Given the description of an element on the screen output the (x, y) to click on. 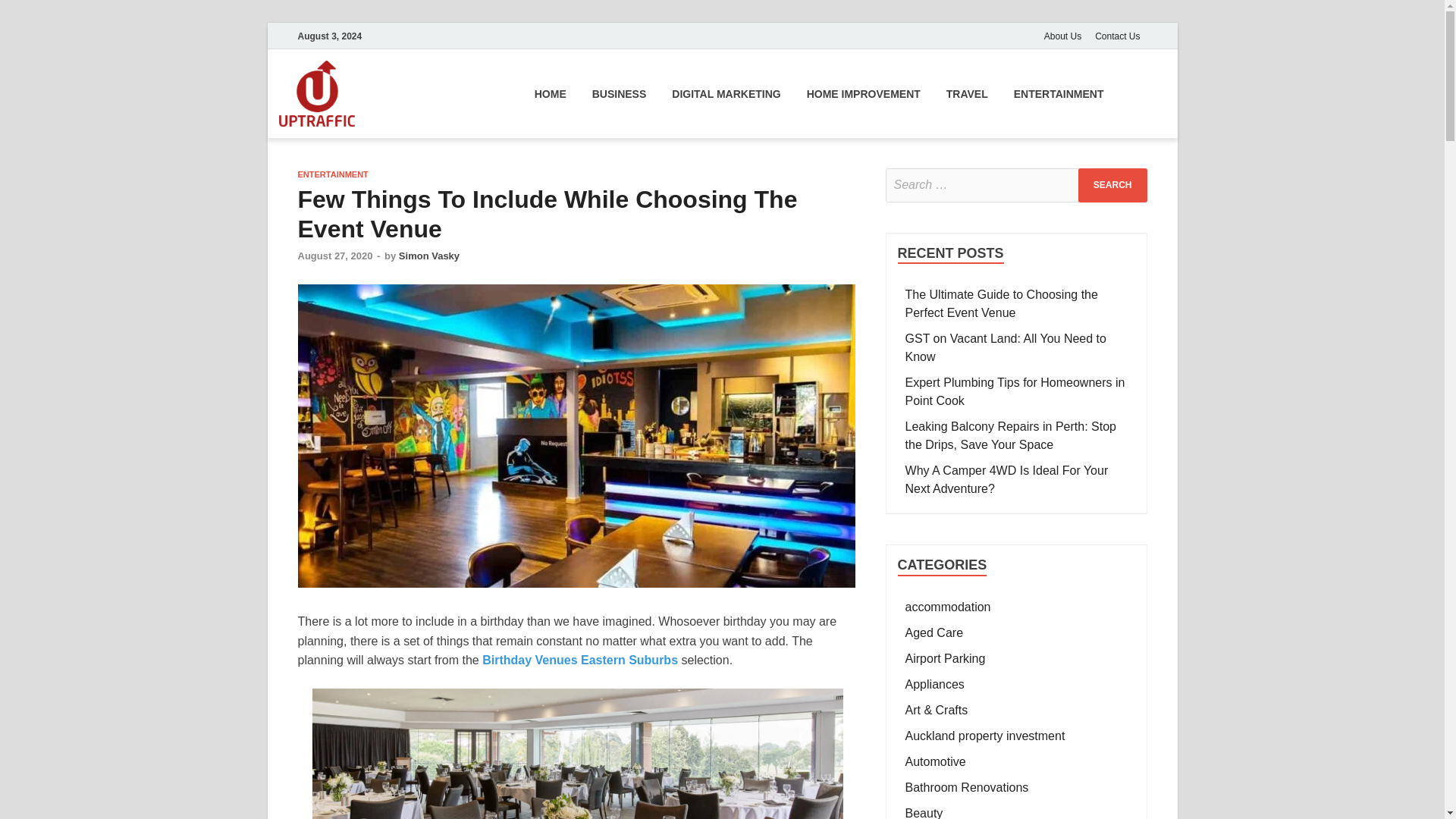
Business (619, 93)
Aged Care (934, 632)
Search (1112, 185)
About Us (1061, 35)
ENTERTAINMENT (332, 174)
accommodation (948, 606)
The Ultimate Guide to Choosing the Perfect Event Venue (1001, 303)
Expert Plumbing Tips for Homeowners in Point Cook (1015, 391)
Travel (967, 93)
TRAVEL (967, 93)
Contact Us (1117, 35)
Home Improvement (863, 93)
Search (1112, 185)
Airport Parking (945, 658)
